Given the description of an element on the screen output the (x, y) to click on. 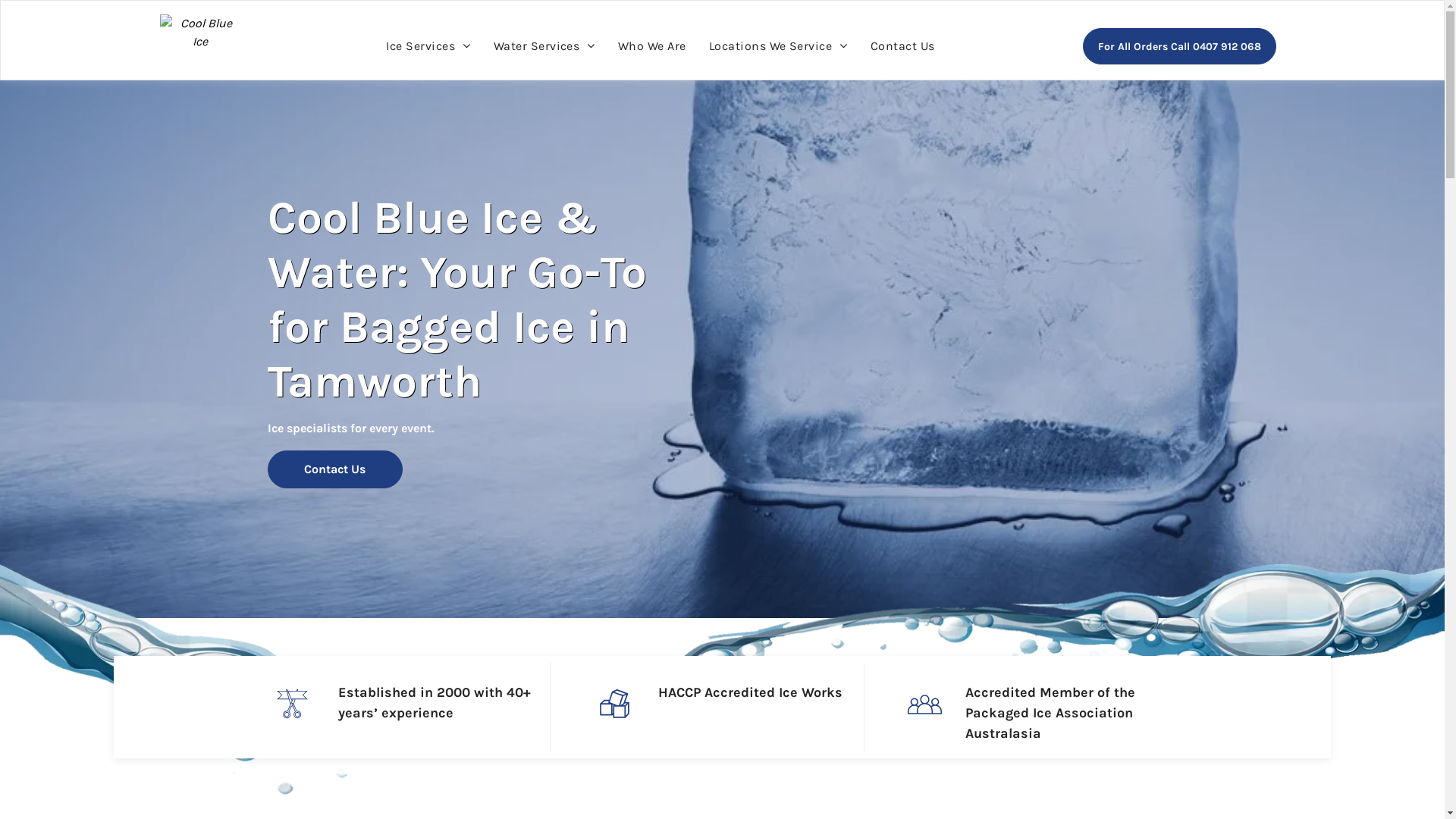
Locations We Service Element type: text (778, 46)
Contact Us Element type: text (333, 469)
Cool Blue Ice Element type: hover (200, 43)
Ice Services Element type: text (427, 46)
Who We Are Element type: text (651, 46)
Contact Us Element type: text (902, 46)
For All Orders Call 0407 912 068 Element type: text (1179, 46)
Water Services Element type: text (544, 46)
